Given the description of an element on the screen output the (x, y) to click on. 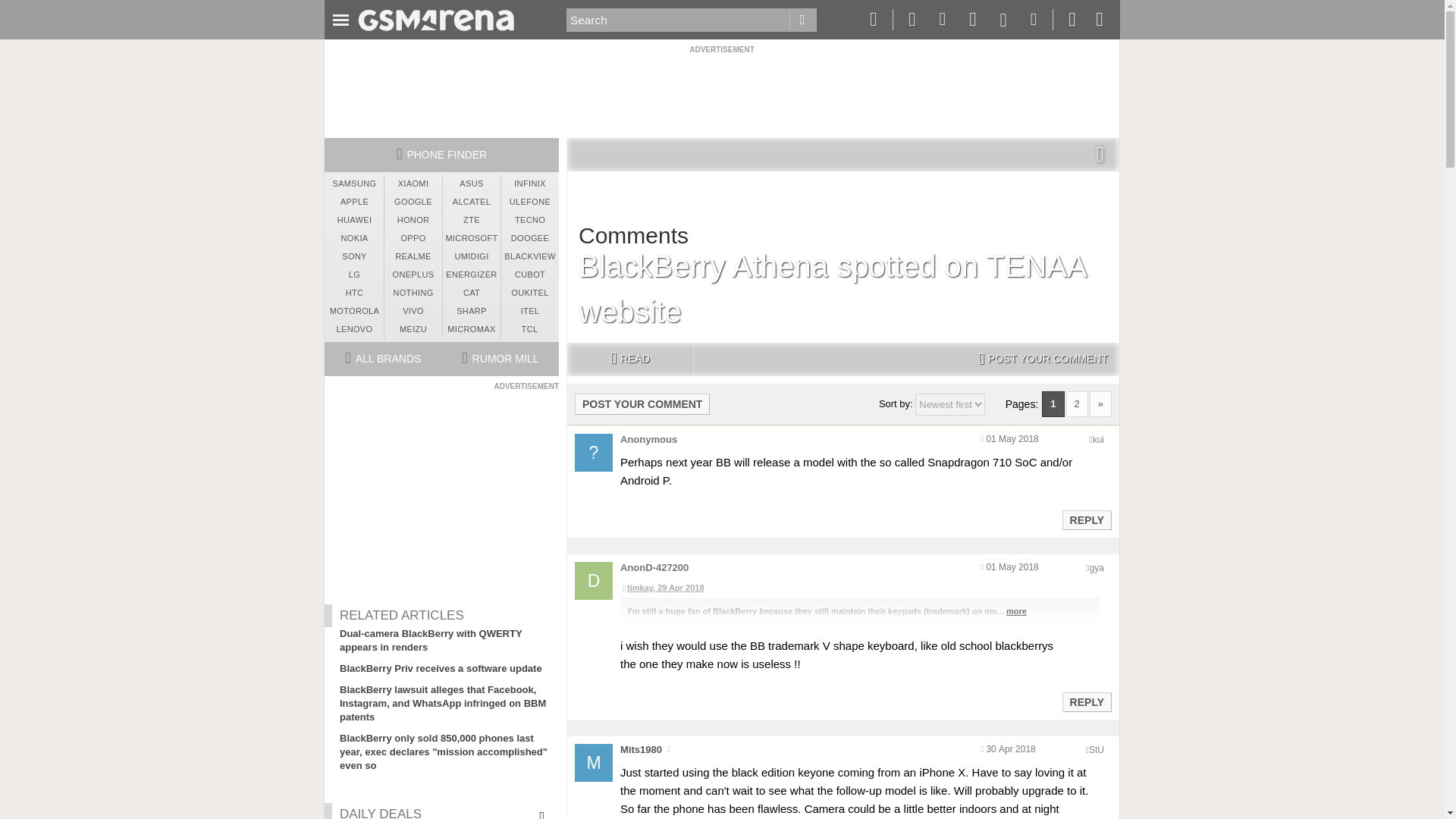
Encoded anonymized location (1096, 749)
Reply to this post (1086, 702)
POST YOUR COMMENT (1042, 359)
Encoded anonymized location (1096, 567)
Go (802, 19)
Go (802, 19)
Reply to this post (1086, 520)
READ (630, 359)
POST YOUR COMMENT (642, 403)
Mits1980 (641, 749)
